Given the description of an element on the screen output the (x, y) to click on. 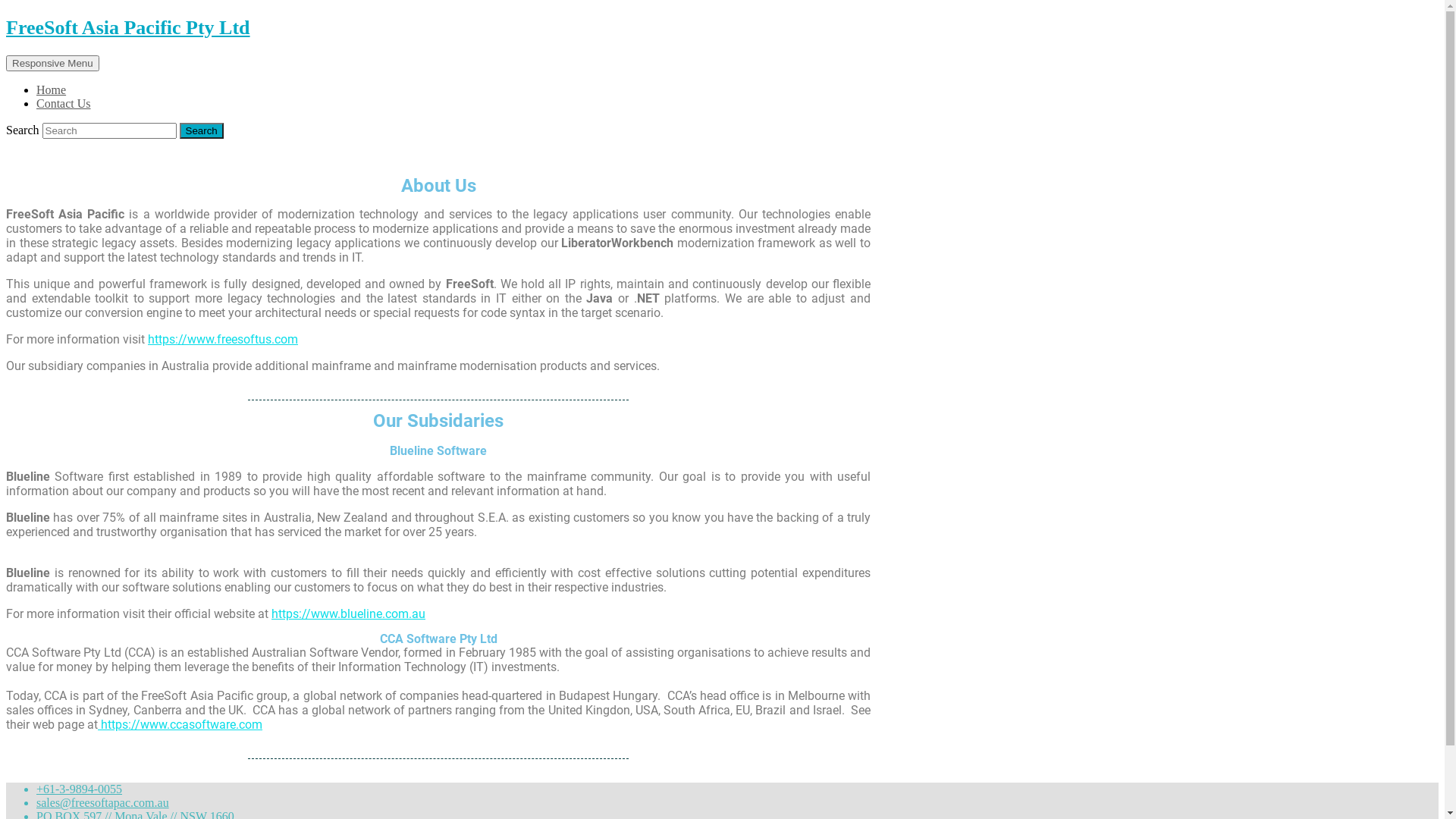
https://www.blueline.com.au Element type: text (348, 613)
https://www.freesoftus.com Element type: text (222, 339)
Responsive Menu Element type: text (52, 63)
Contact Us Element type: text (63, 103)
sales@freesoftapac.com.au Element type: text (102, 802)
https://www.ccasoftware.com Element type: text (179, 724)
FreeSoft Asia Pacific Pty Ltd Element type: text (128, 27)
+61-3-9894-0055 Element type: text (79, 788)
Search Element type: text (201, 130)
Home Element type: text (50, 89)
